Given the description of an element on the screen output the (x, y) to click on. 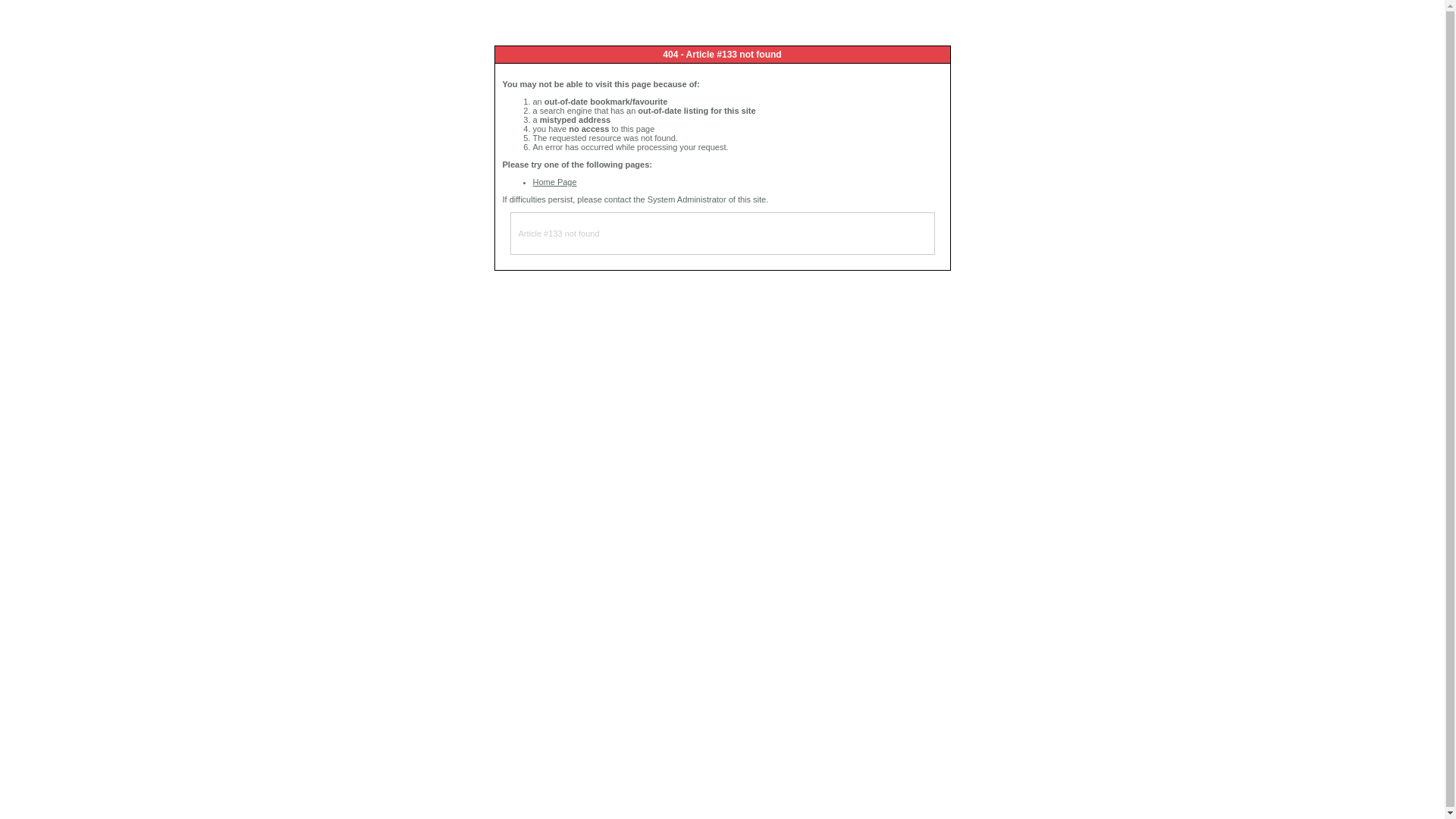
Home Page Element type: text (554, 181)
